Given the description of an element on the screen output the (x, y) to click on. 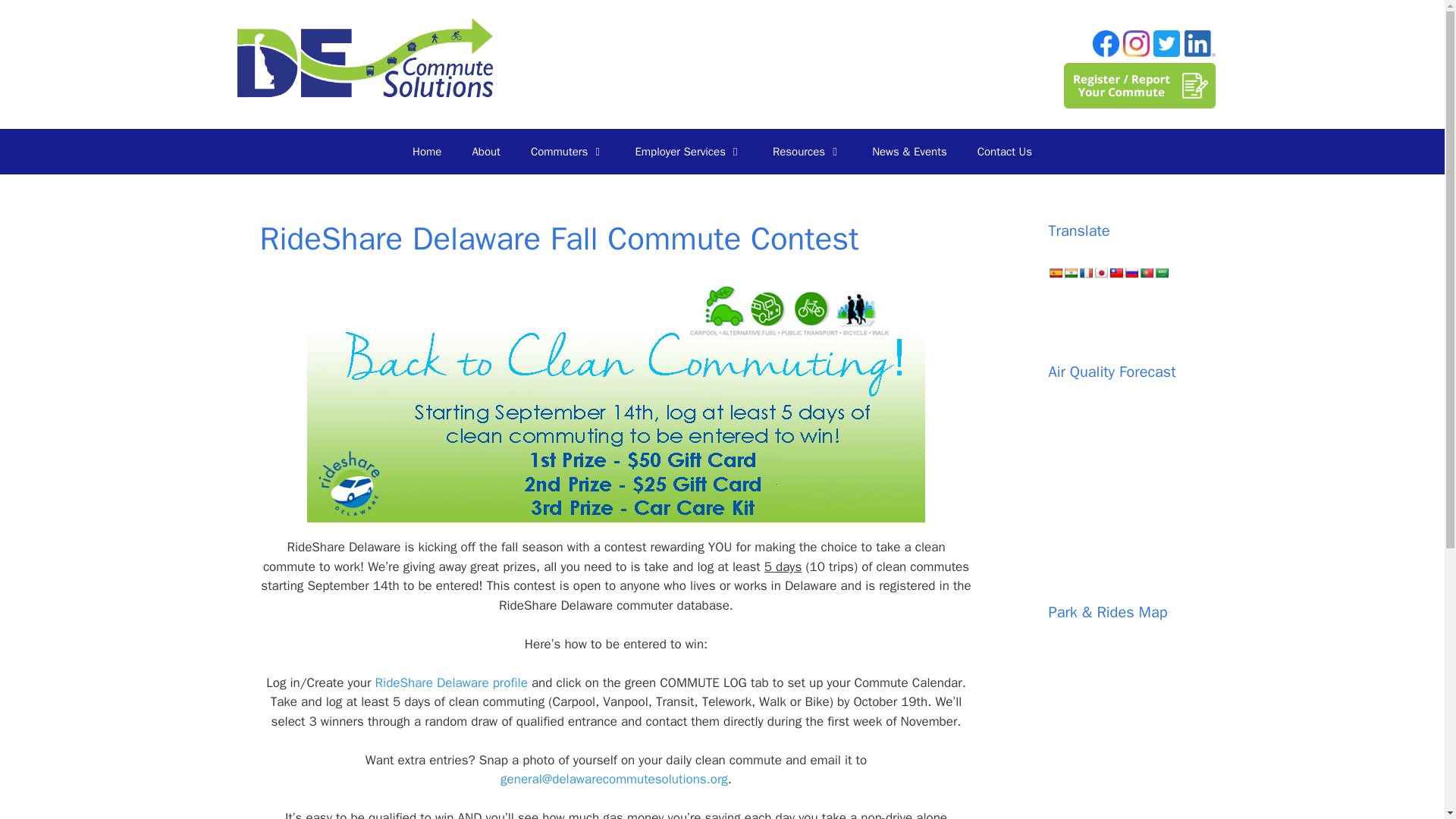
Russian (1130, 272)
Spanish (1054, 272)
Resources (807, 151)
Hindi (1069, 272)
About (486, 151)
French (1085, 272)
RideShare Delaware profile (451, 682)
Home (427, 151)
Arabic (1160, 272)
Commuters (567, 151)
